Given the description of an element on the screen output the (x, y) to click on. 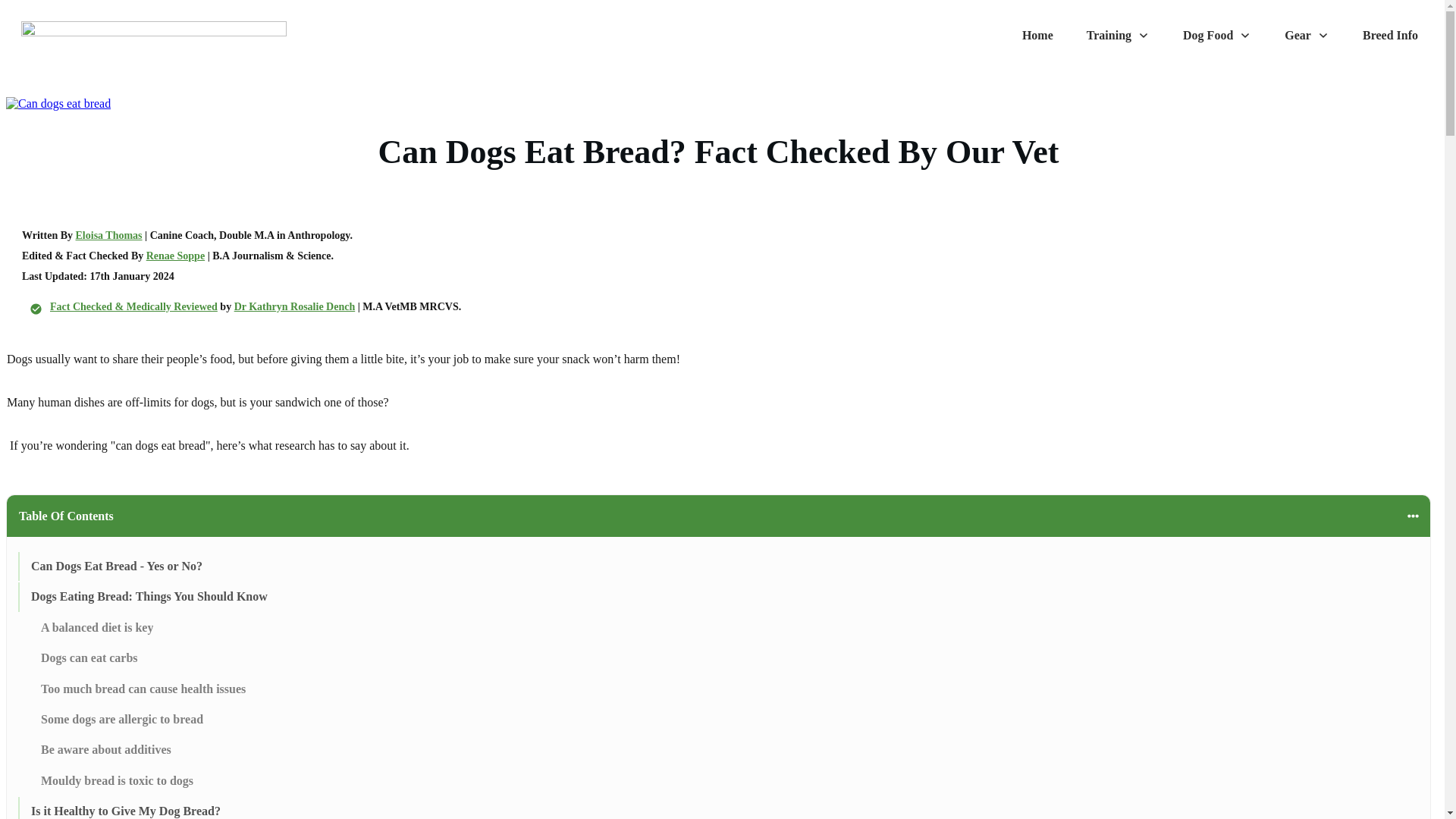
Eloisa Thomas (108, 234)
Is it Healthy to Give My Dog Bread? (125, 811)
Gear (1306, 35)
Renae Soppe (176, 255)
Dr Kathryn Rosalie Dench (294, 306)
Home (1037, 35)
Dogs Eating Bread: Things You Should Know (148, 596)
Can Dogs Eat Bread - Yes or No? (116, 565)
Breed Info (1390, 35)
Dog Food (1216, 35)
A balanced diet is key (96, 627)
Dogs Eating Bread: Things You Should Know (148, 596)
Mouldy bread is toxic to dogs (116, 781)
Training (1118, 35)
